Given the description of an element on the screen output the (x, y) to click on. 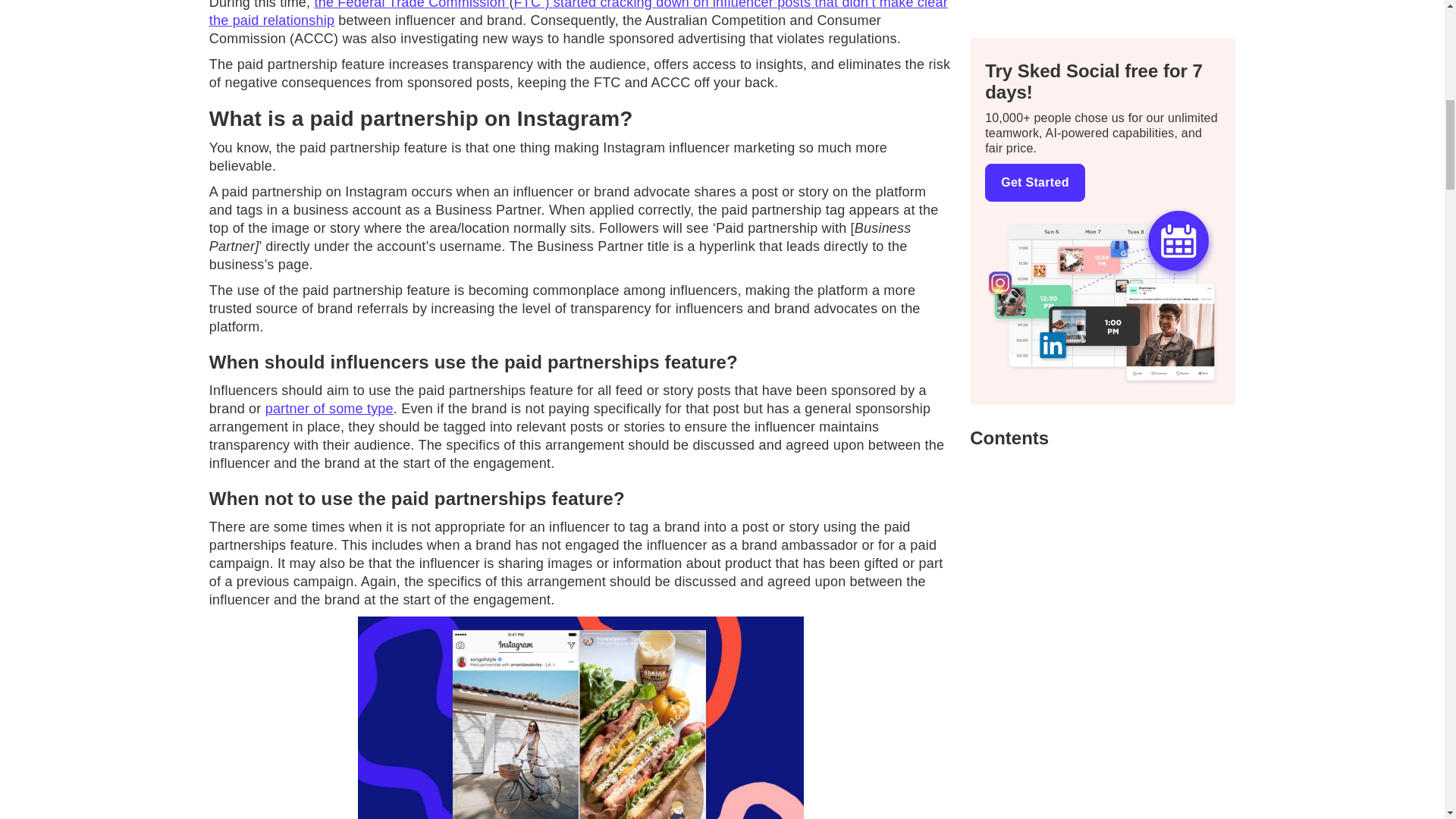
the Federal Trade Commission (411, 4)
partner of some type (328, 408)
